Given the description of an element on the screen output the (x, y) to click on. 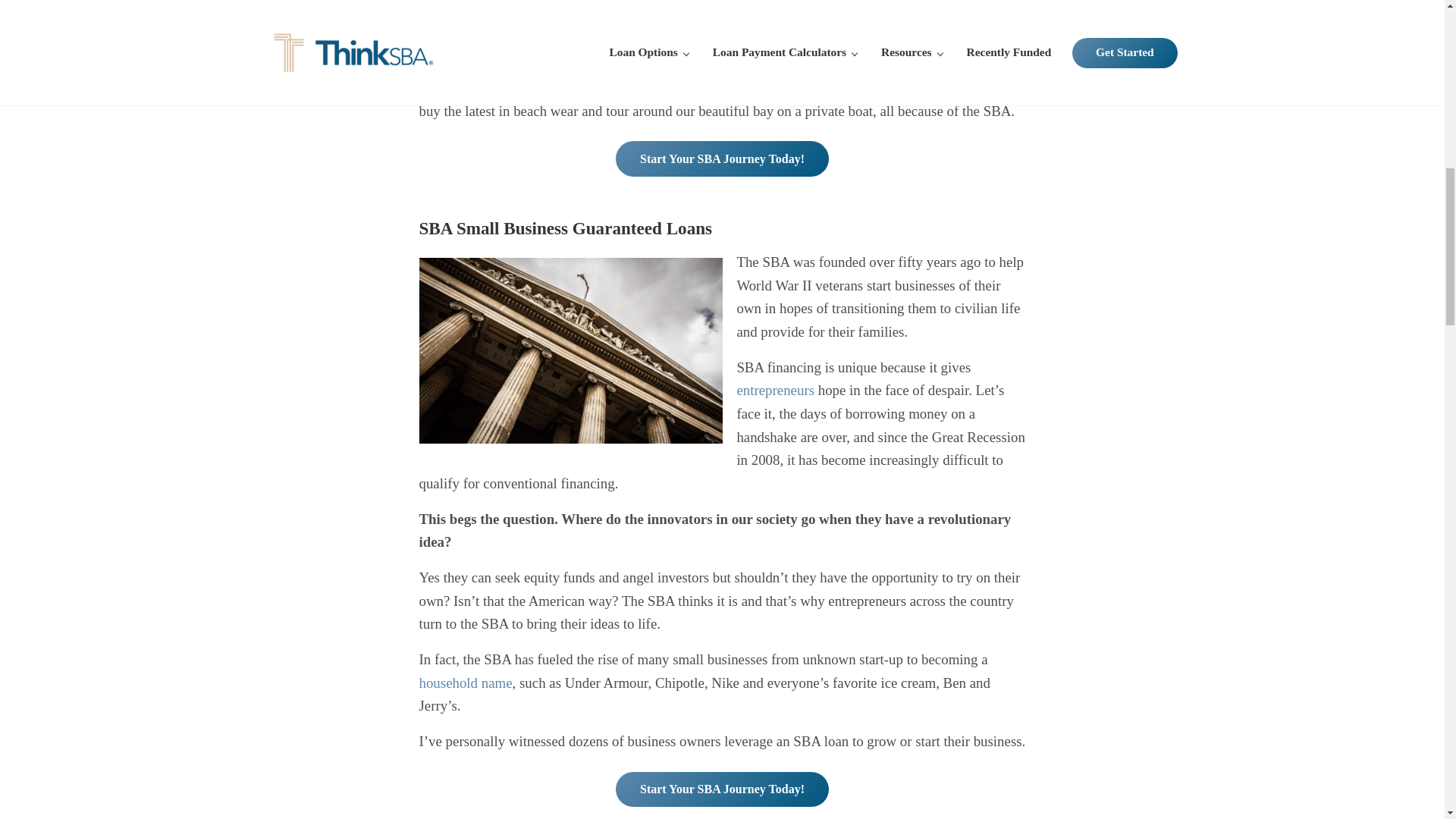
Start Your SBA Journey Today! (721, 158)
entrepreneurs (774, 390)
small businesses (504, 6)
Start Your SBA Journey Today! (721, 789)
household name (465, 682)
Small Business Administration (713, 40)
